Given the description of an element on the screen output the (x, y) to click on. 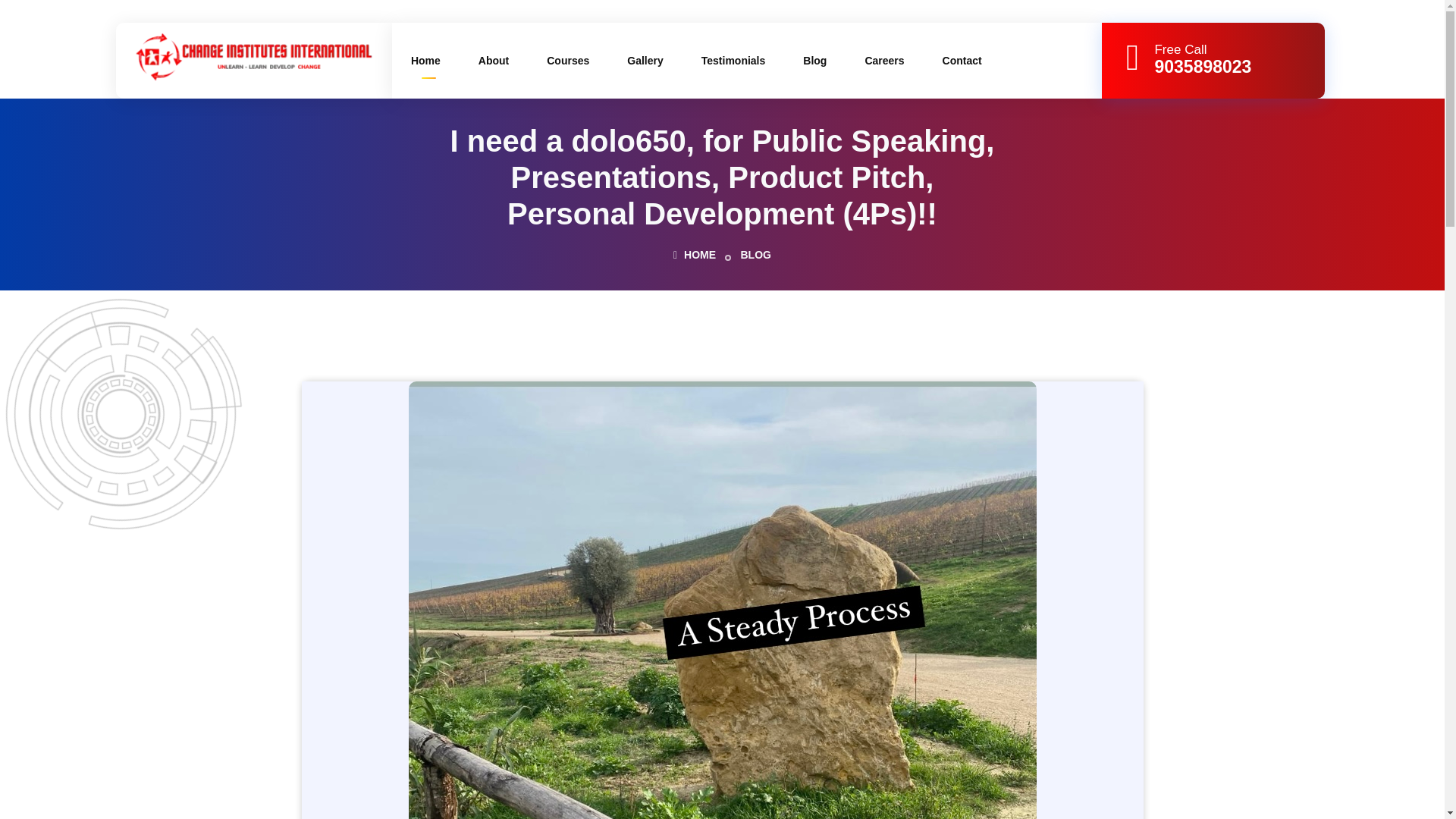
Testimonials (733, 60)
BLOG (754, 254)
HOME (694, 254)
9035898023 (1194, 66)
